Given the description of an element on the screen output the (x, y) to click on. 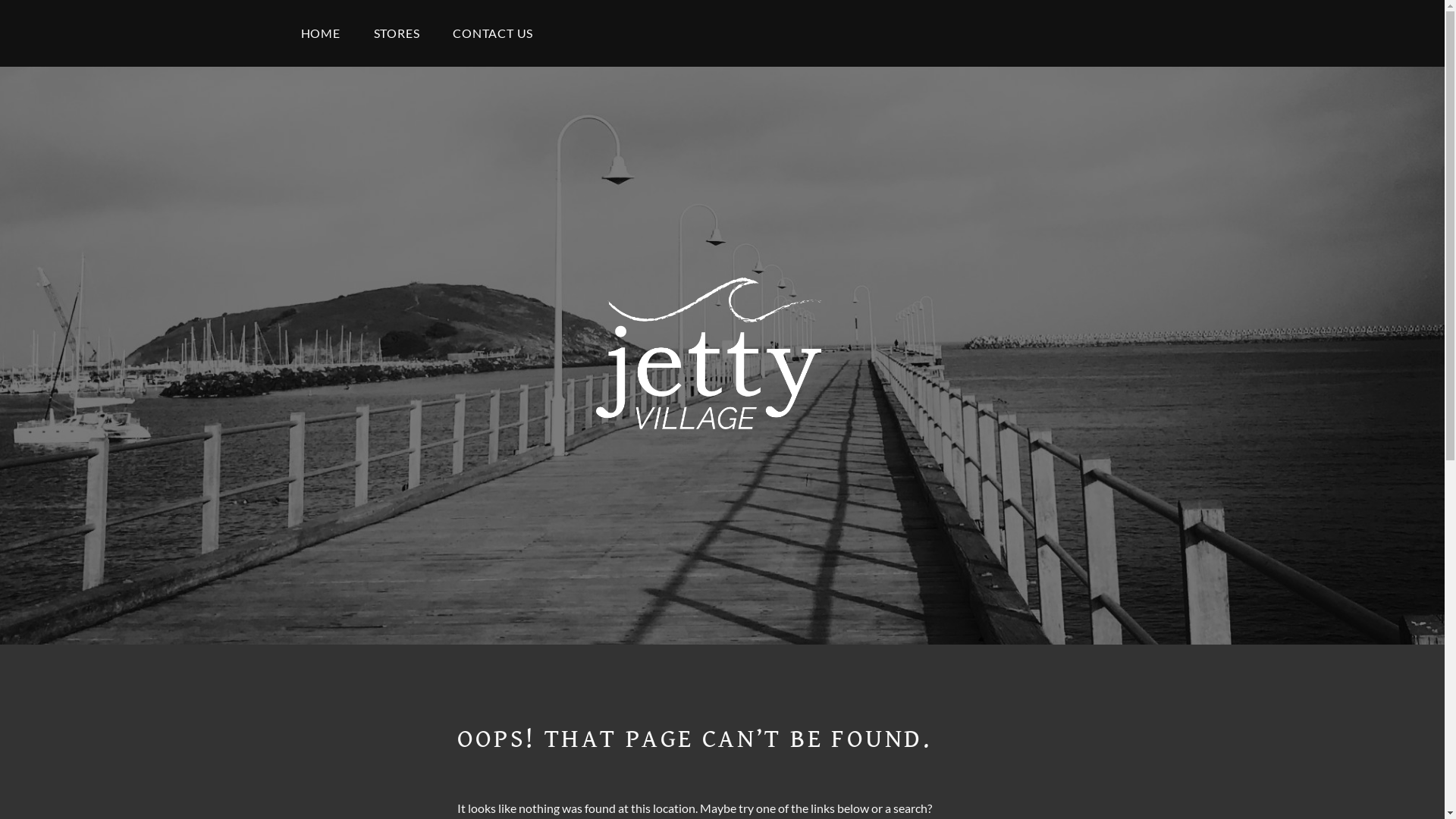
STORES Element type: text (396, 33)
CONTACT US Element type: text (492, 33)
JETTY VILLAGE Element type: text (734, 501)
HOME Element type: text (319, 33)
